Given the description of an element on the screen output the (x, y) to click on. 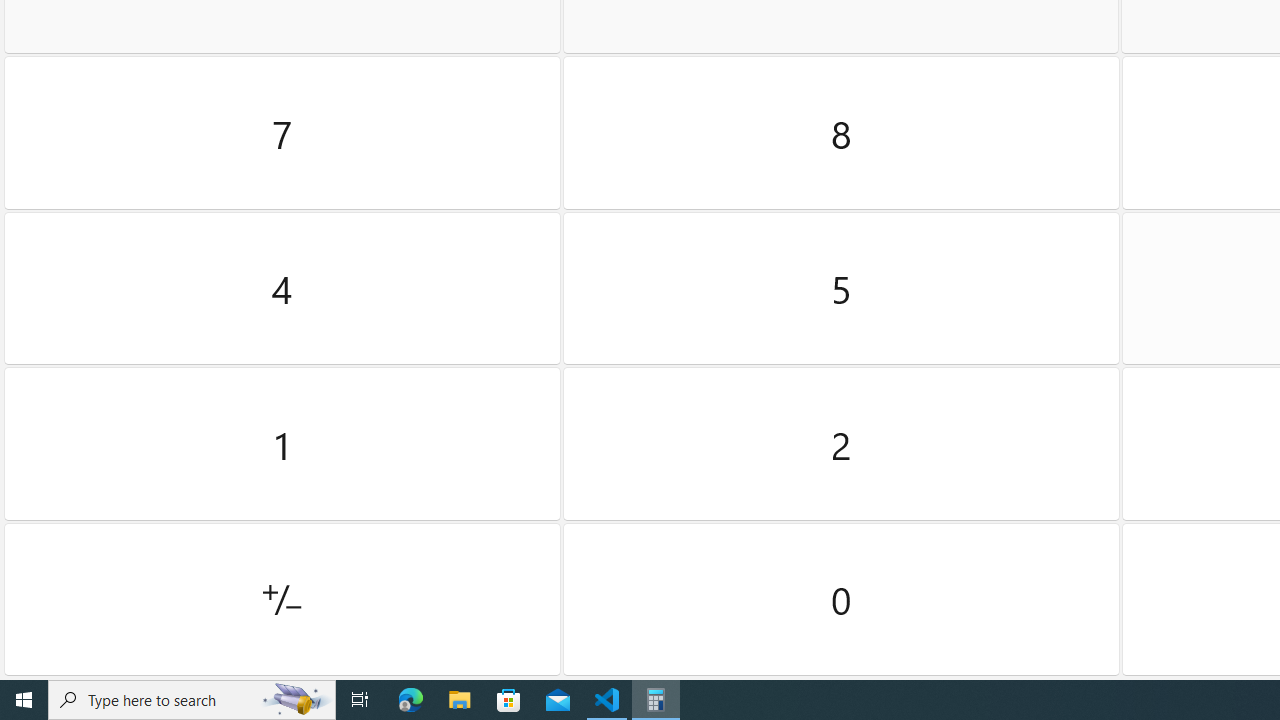
One (281, 444)
Two (841, 444)
